Given the description of an element on the screen output the (x, y) to click on. 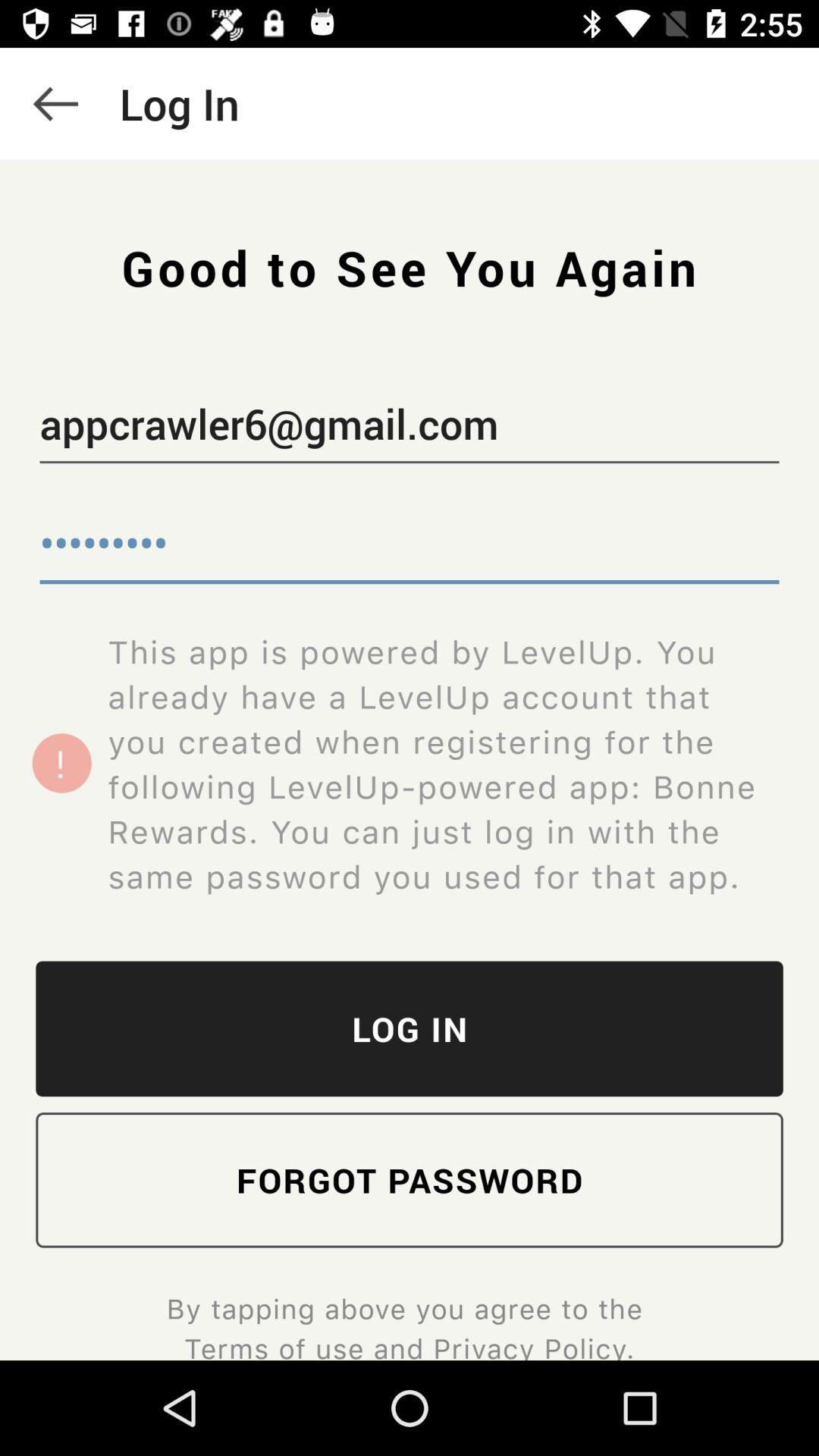
turn on icon below forgot password (408, 1324)
